Given the description of an element on the screen output the (x, y) to click on. 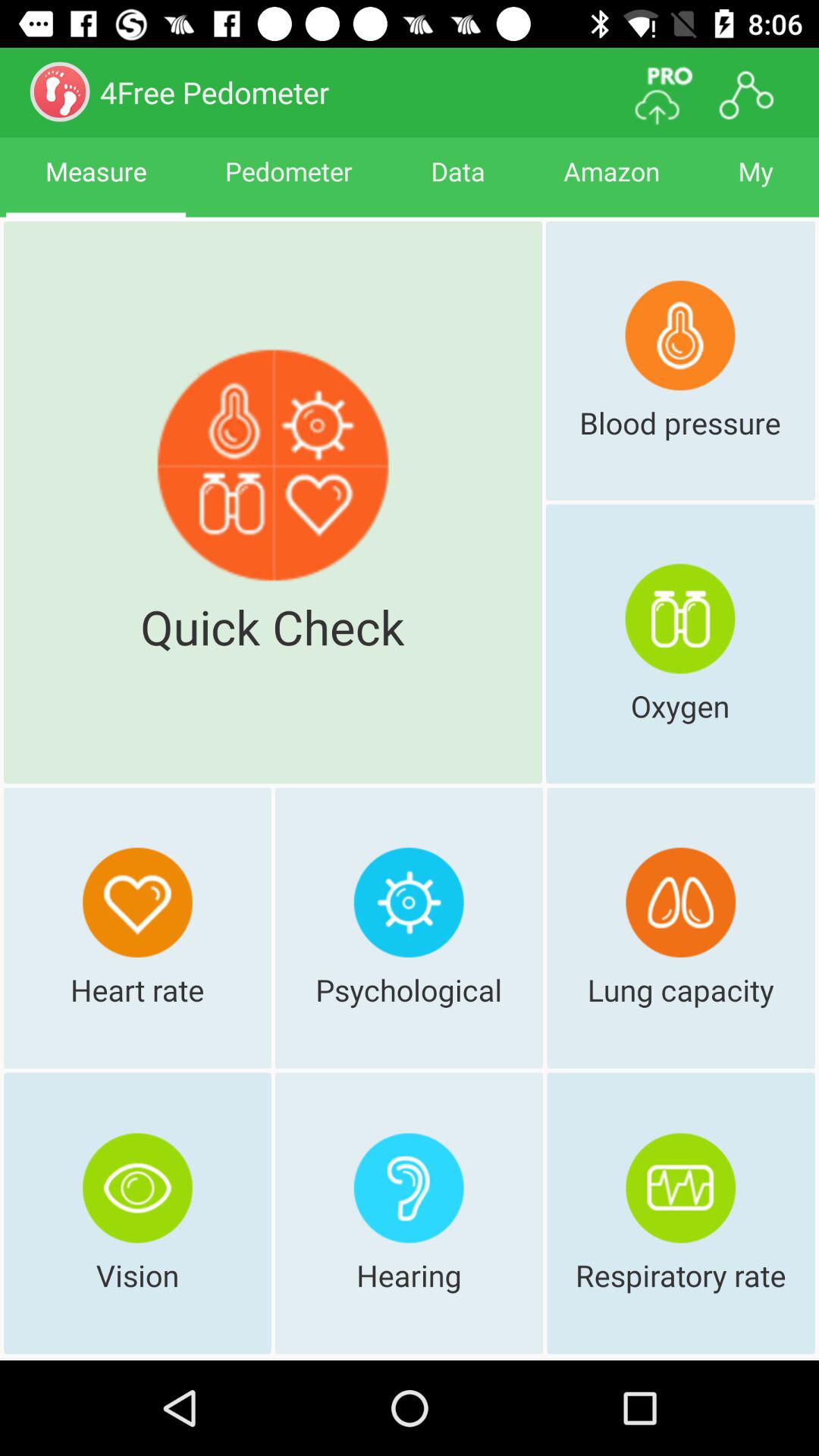
press data icon (457, 185)
